Given the description of an element on the screen output the (x, y) to click on. 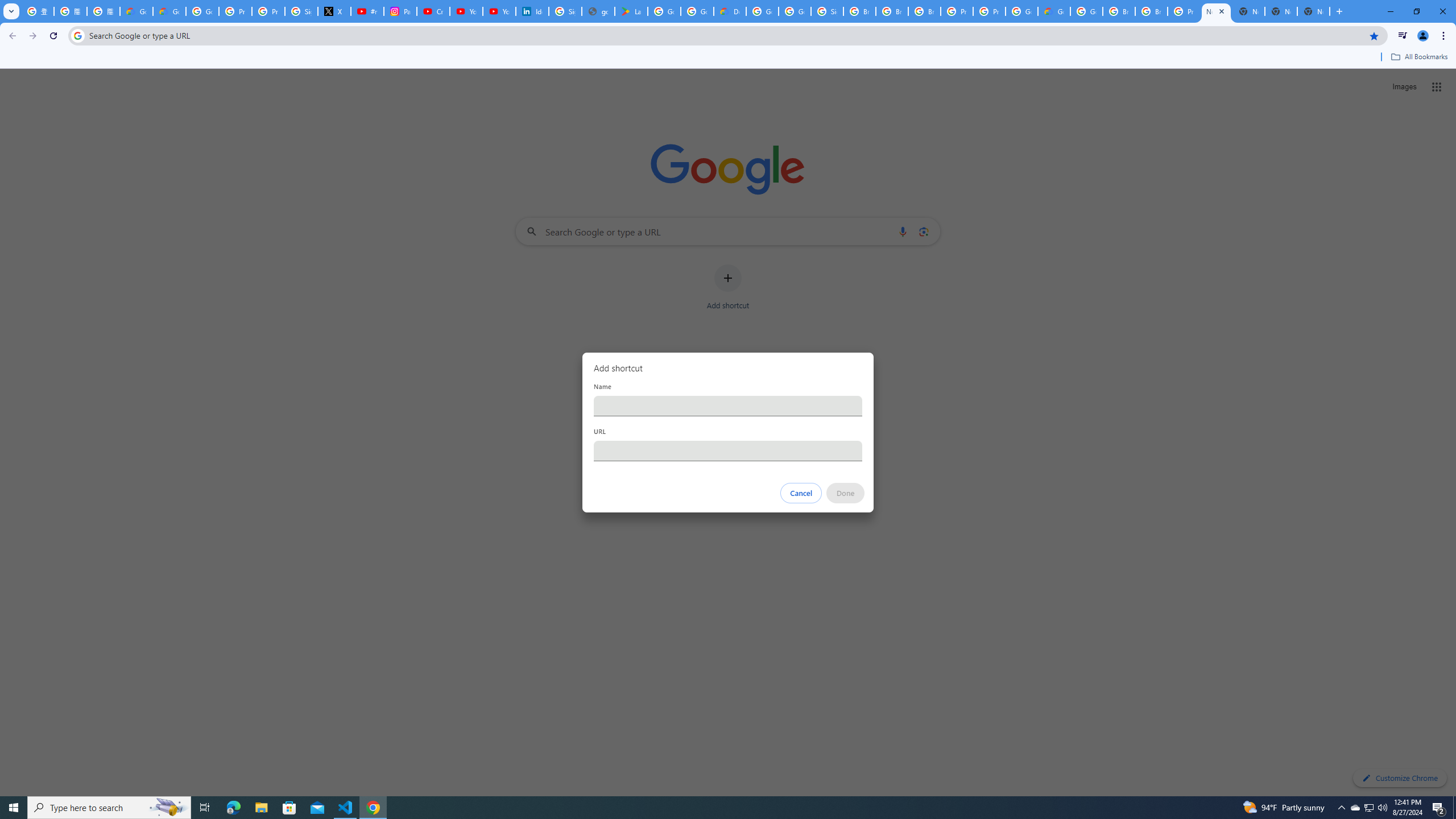
Identity verification via Persona | LinkedIn Help (532, 11)
Bookmarks (728, 58)
X (334, 11)
Browse Chrome as a guest - Computer - Google Chrome Help (1118, 11)
Name (727, 405)
Google Cloud Platform (1021, 11)
